Given the description of an element on the screen output the (x, y) to click on. 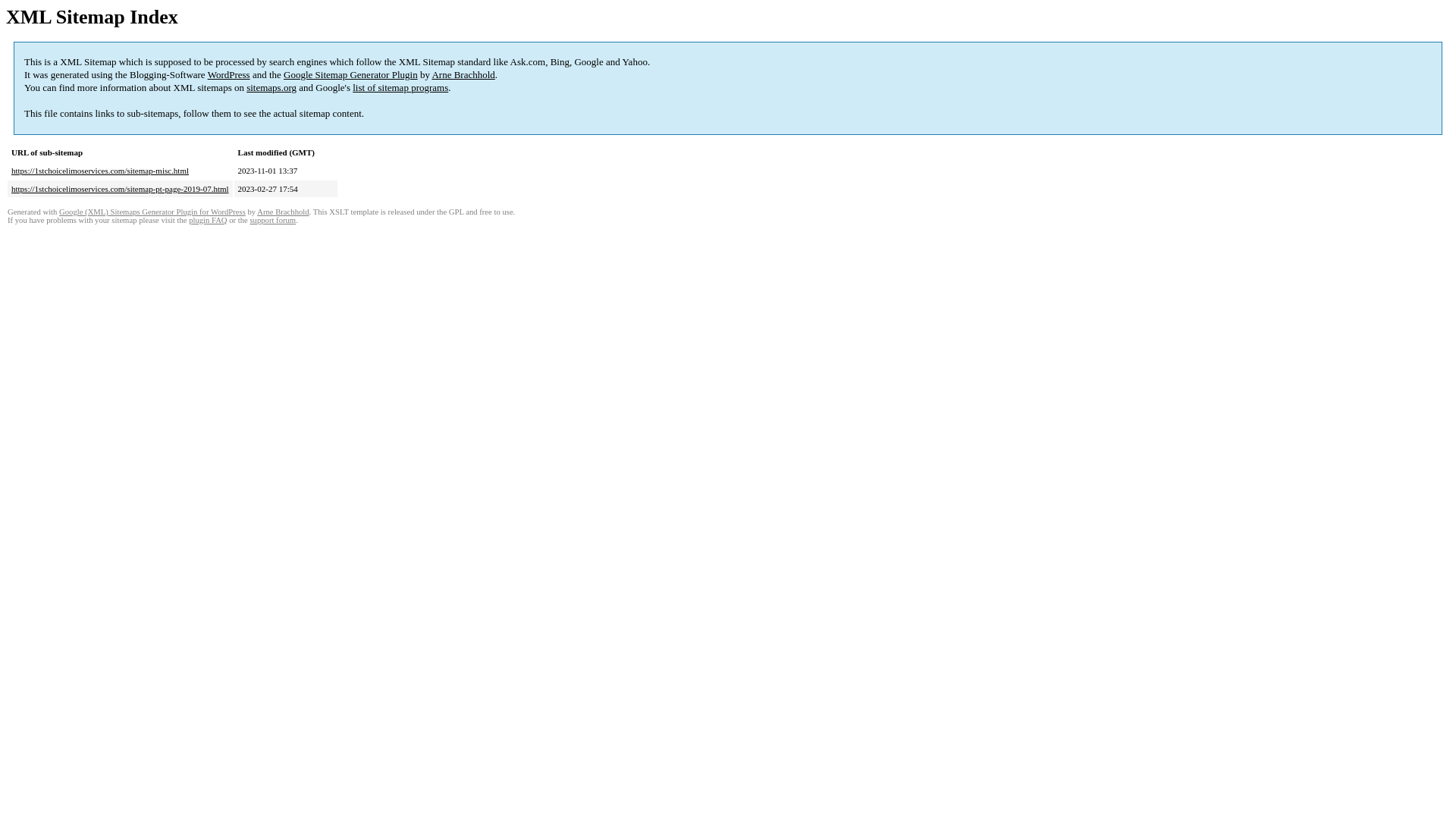
WordPress Element type: text (228, 74)
plugin FAQ Element type: text (207, 220)
Arne Brachhold Element type: text (462, 74)
list of sitemap programs Element type: text (400, 87)
sitemaps.org Element type: text (271, 87)
support forum Element type: text (272, 220)
Arne Brachhold Element type: text (282, 211)
https://1stchoicelimoservices.com/sitemap-misc.html Element type: text (99, 170)
Google (XML) Sitemaps Generator Plugin for WordPress Element type: text (152, 211)
Google Sitemap Generator Plugin Element type: text (350, 74)
